Given the description of an element on the screen output the (x, y) to click on. 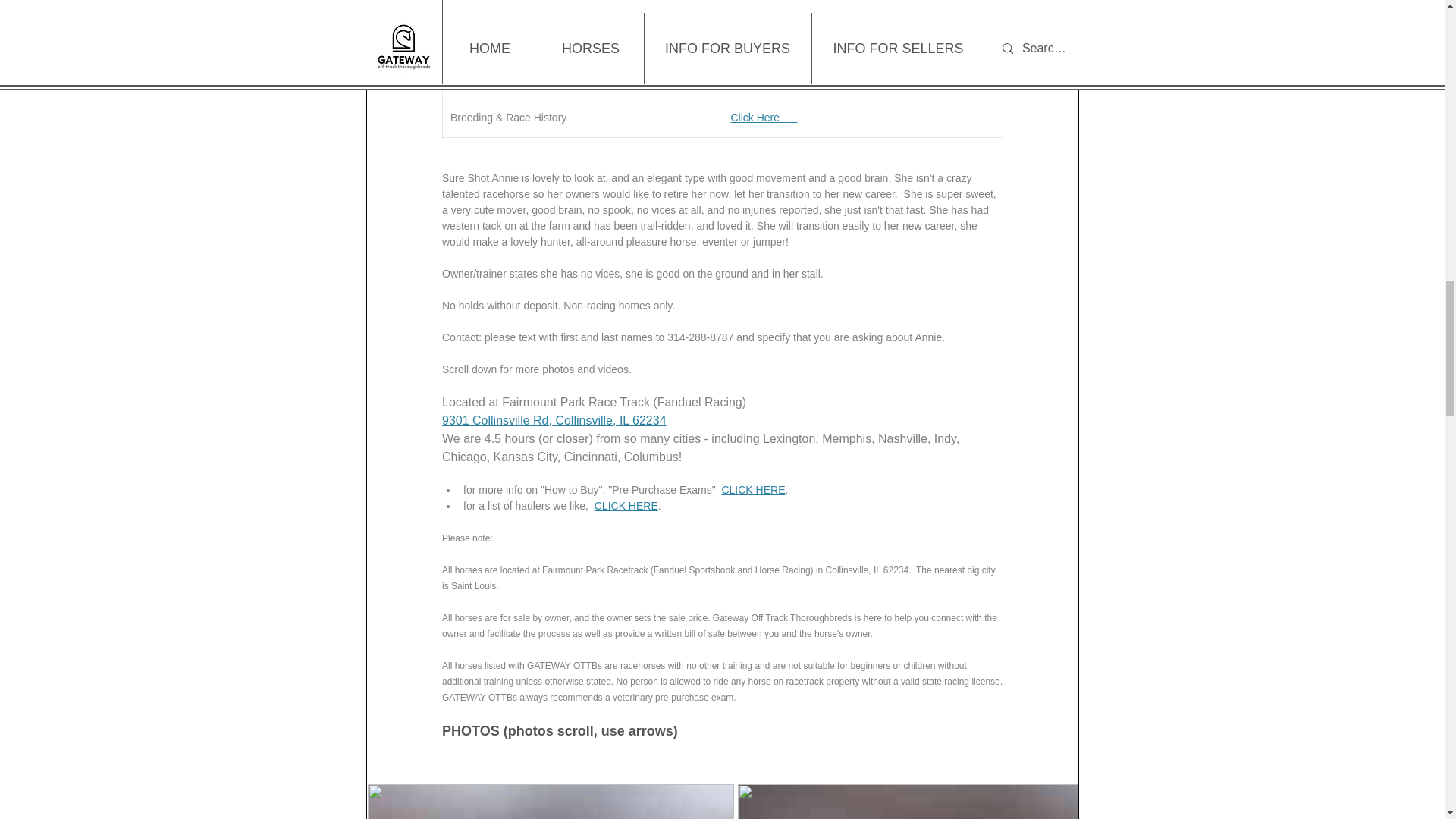
CLICK HERE (626, 505)
9301 Collinsville Rd, Collinsville, IL 62234 (553, 420)
Click Here       (763, 117)
CLICK HERE (752, 490)
Fairmount Park Race Track (794, 81)
